Given the description of an element on the screen output the (x, y) to click on. 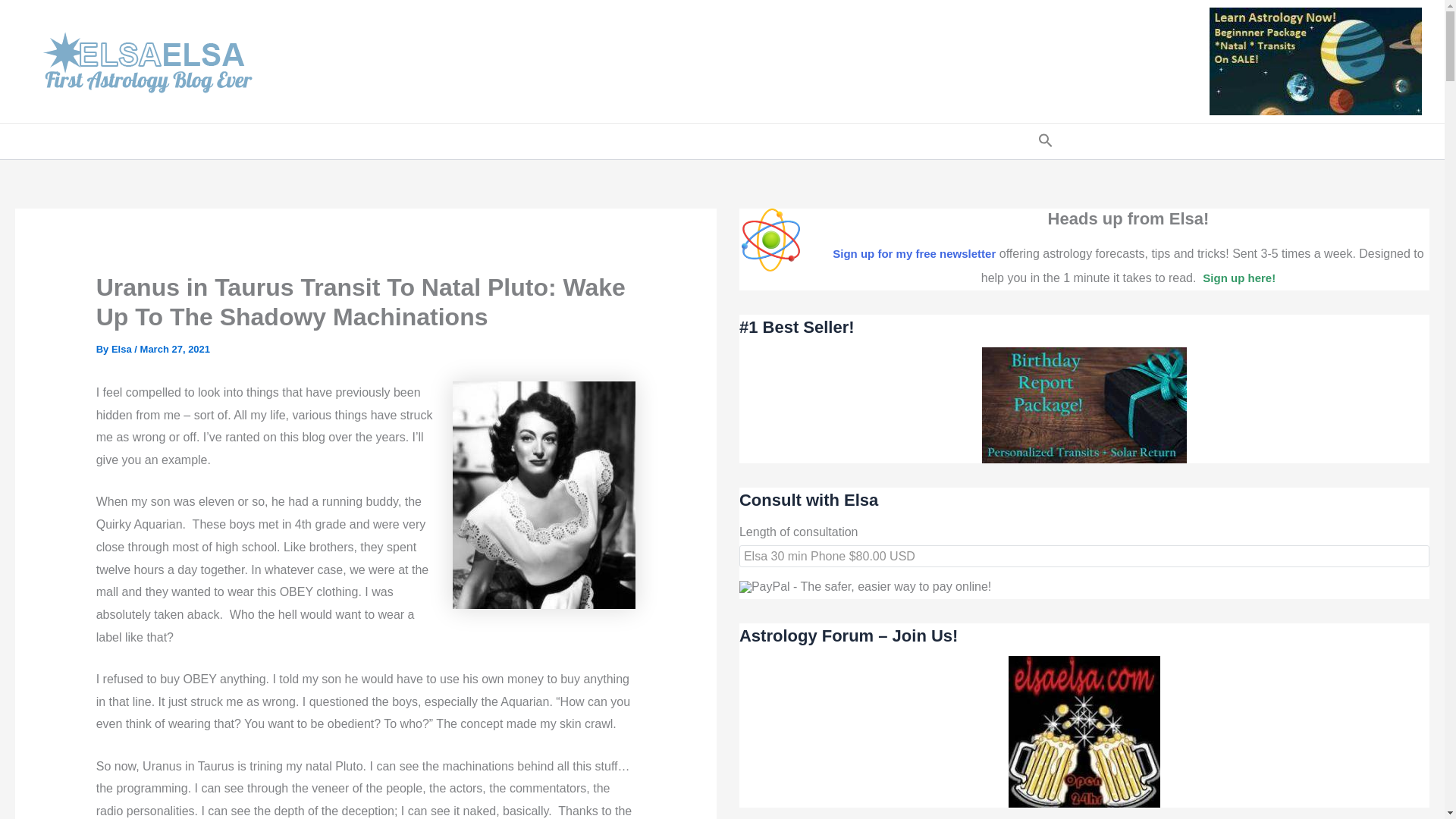
Tip (1016, 140)
Consult (545, 140)
Videos (766, 140)
About (827, 140)
Blog (416, 140)
Forum (473, 140)
Elsa (122, 348)
Calendar (695, 140)
Shop (624, 140)
Explore (961, 140)
